Given the description of an element on the screen output the (x, y) to click on. 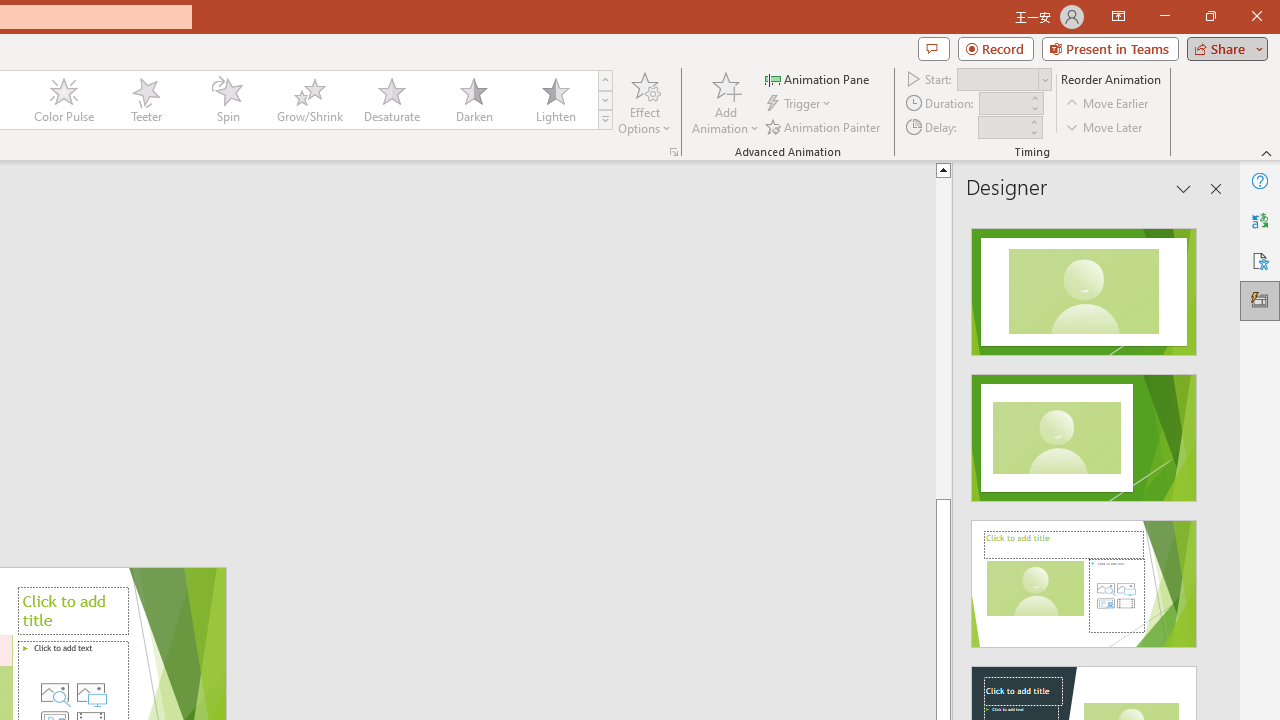
Trigger (799, 103)
Lighten (555, 100)
Restore Down (1210, 16)
Comments (933, 48)
Line up (1011, 169)
Designer (1260, 300)
Collapse the Ribbon (1267, 152)
Animation Styles (605, 120)
More (1033, 121)
Effect Options (644, 102)
Desaturate (391, 100)
Less (1033, 132)
Present in Teams (1109, 48)
Animation Pane (818, 78)
Share (1223, 48)
